Given the description of an element on the screen output the (x, y) to click on. 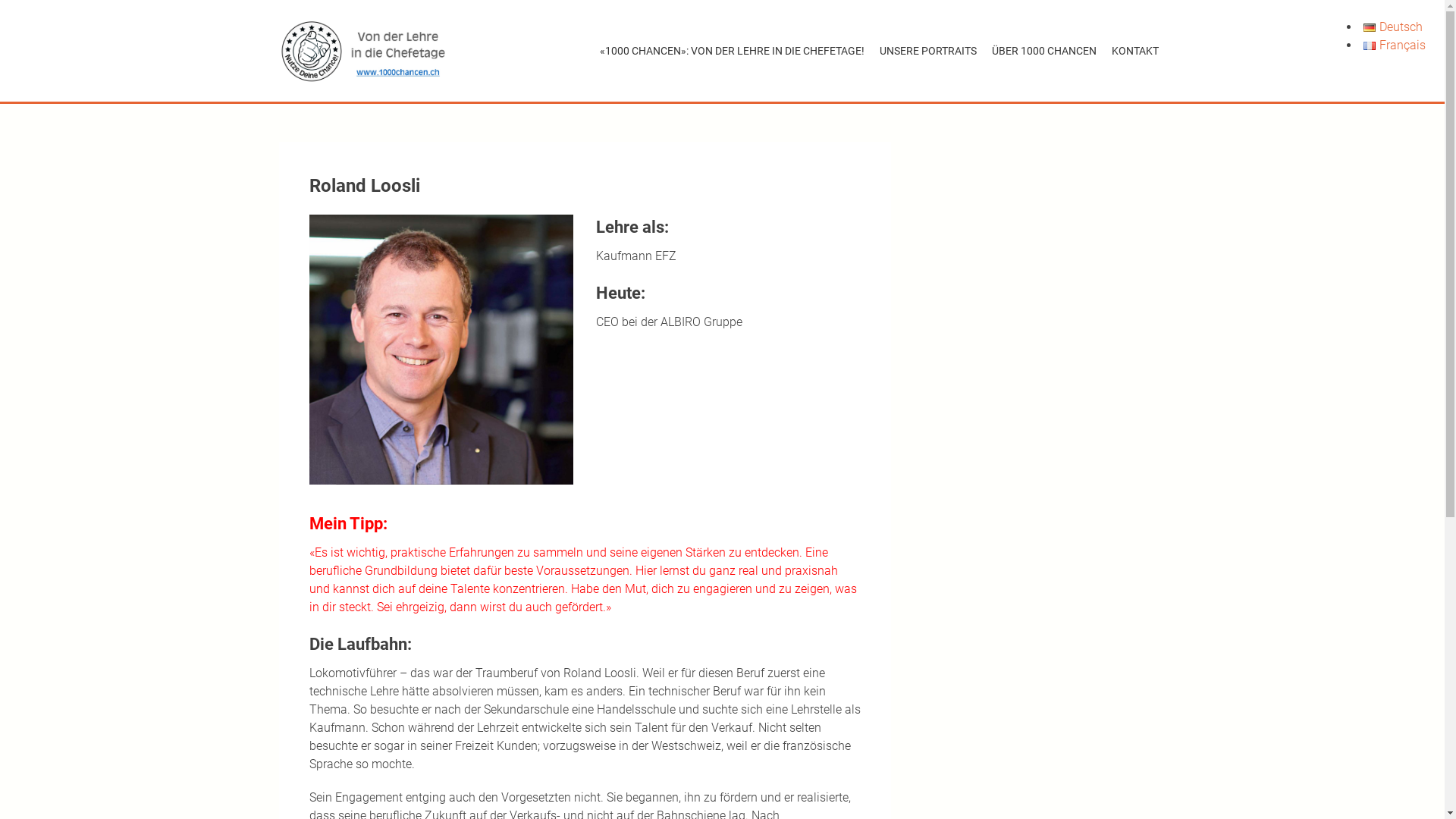
UNSERE PORTRAITS Element type: text (928, 50)
Deutsch Element type: hover (1369, 27)
KONTAKT Element type: text (1135, 50)
Deutsch Element type: text (1392, 26)
